Given the description of an element on the screen output the (x, y) to click on. 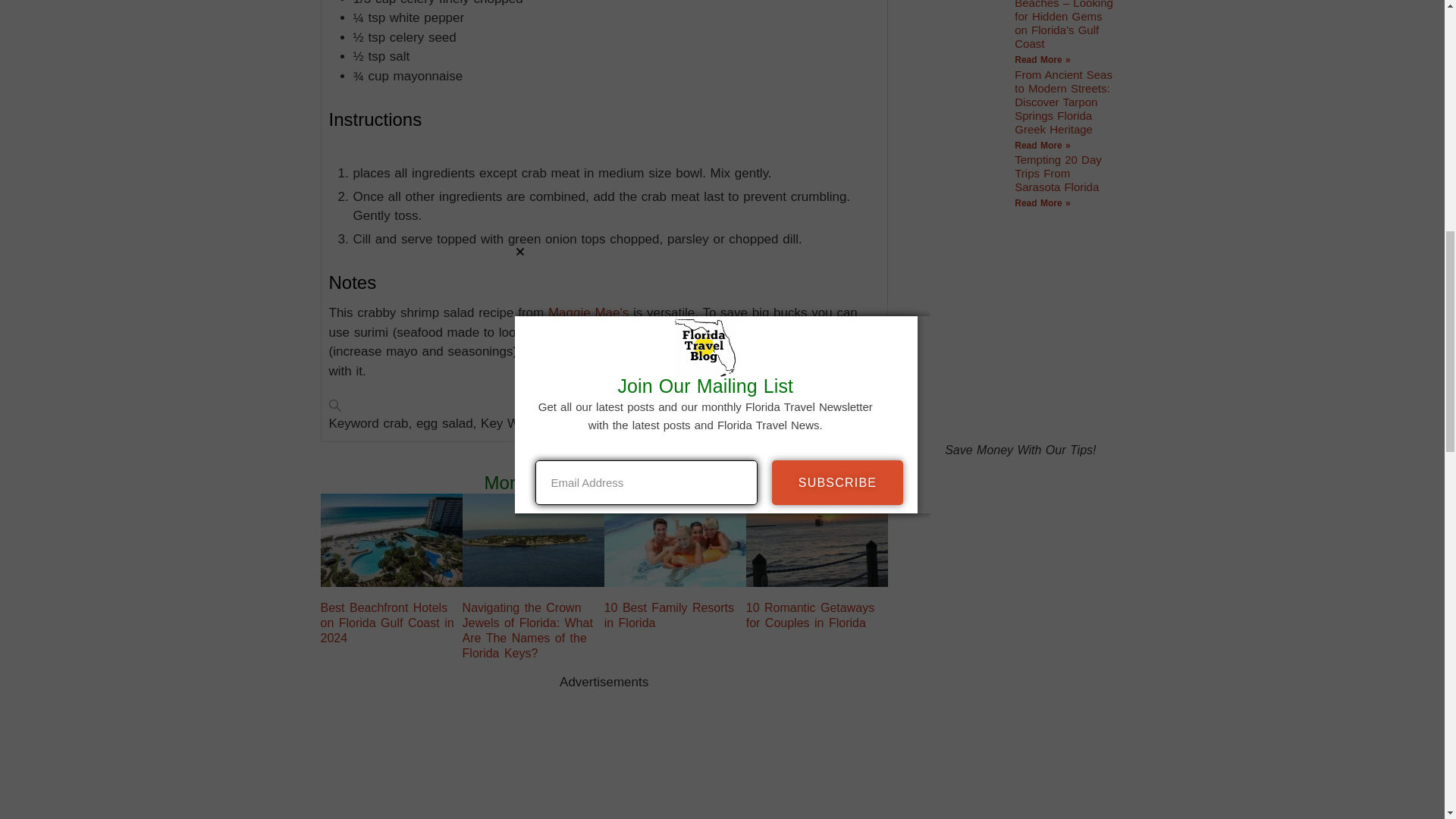
Maggie Mae's Crabby Shrimp Salad 2 (390, 539)
Maggie Mae's Crabby Shrimp Salad 6 (674, 540)
Maggie Mae's Crabby Shrimp Salad 4 (532, 539)
Maggie Mae's Crabby Shrimp Salad 8 (815, 539)
